Given the description of an element on the screen output the (x, y) to click on. 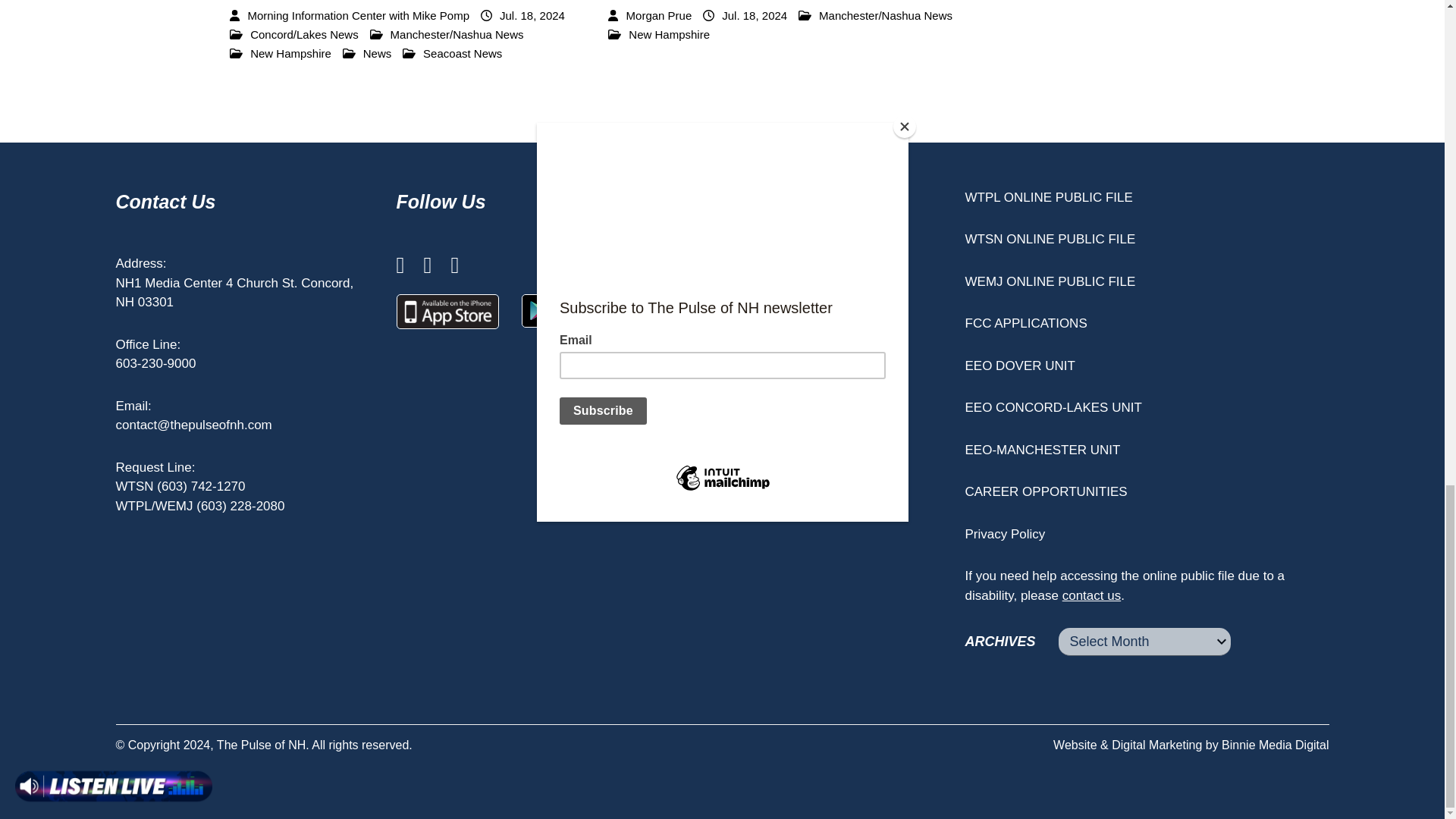
App Store (447, 311)
